Given the description of an element on the screen output the (x, y) to click on. 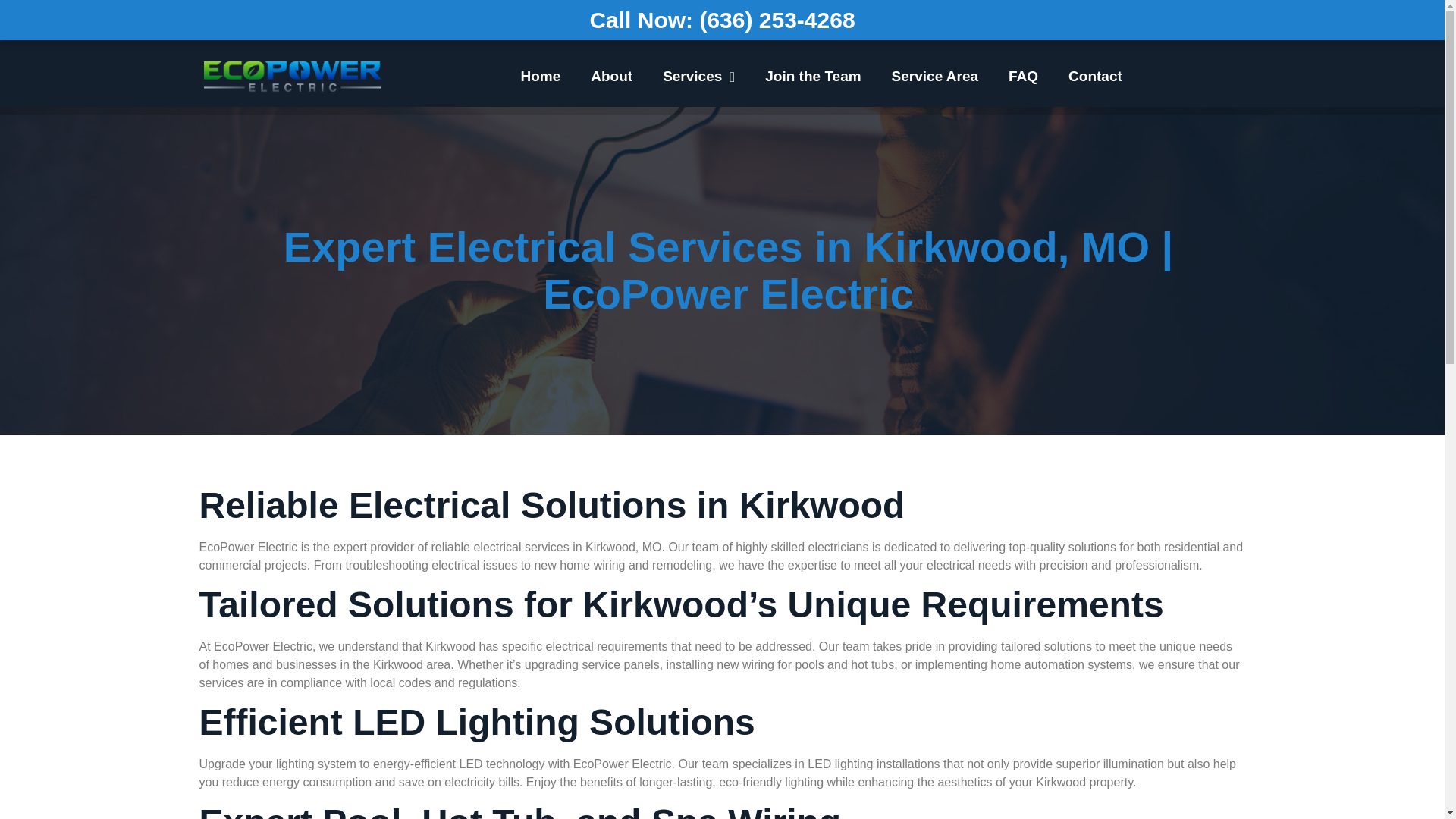
FAQ (1022, 76)
Services (698, 76)
Join the Team (812, 76)
Service Area (934, 76)
Contact (1094, 76)
Home (540, 76)
About (611, 76)
